Given the description of an element on the screen output the (x, y) to click on. 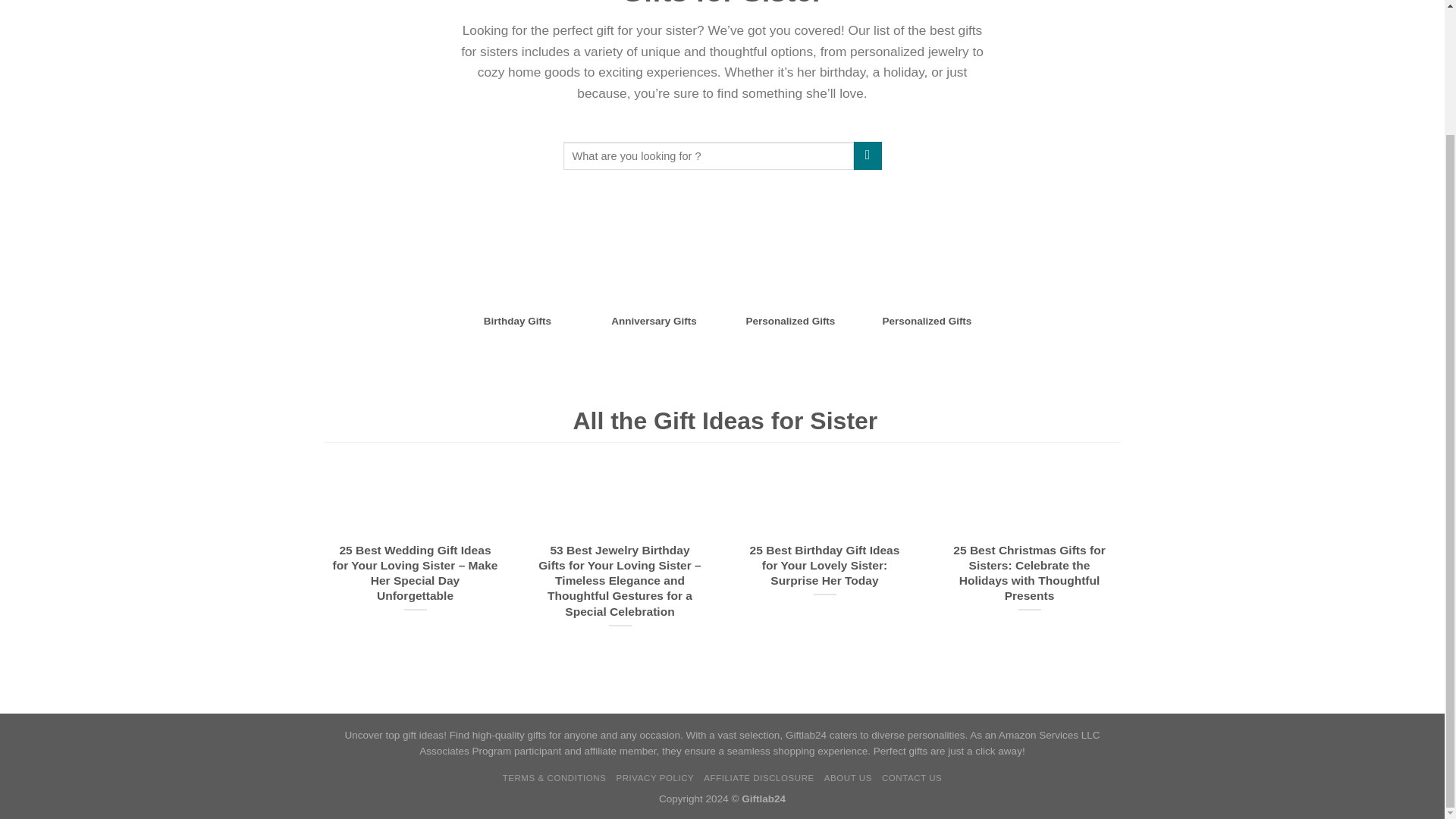
Sister (518, 249)
Sister (790, 249)
Sister (653, 249)
Sister (927, 249)
